Given the description of an element on the screen output the (x, y) to click on. 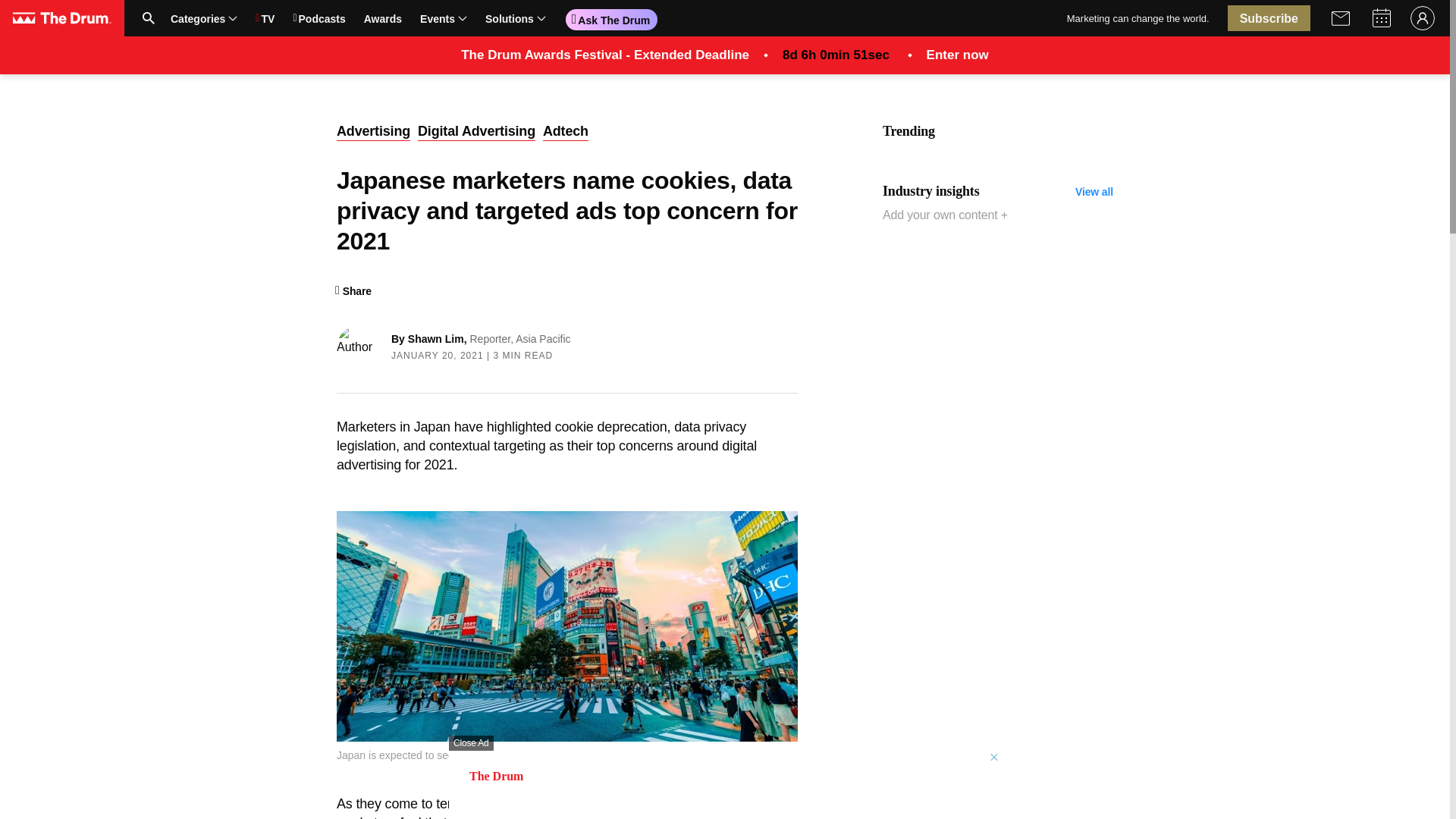
qefefewfwe (566, 626)
Categories (203, 17)
3rd party ad content (409, 18)
